Given the description of an element on the screen output the (x, y) to click on. 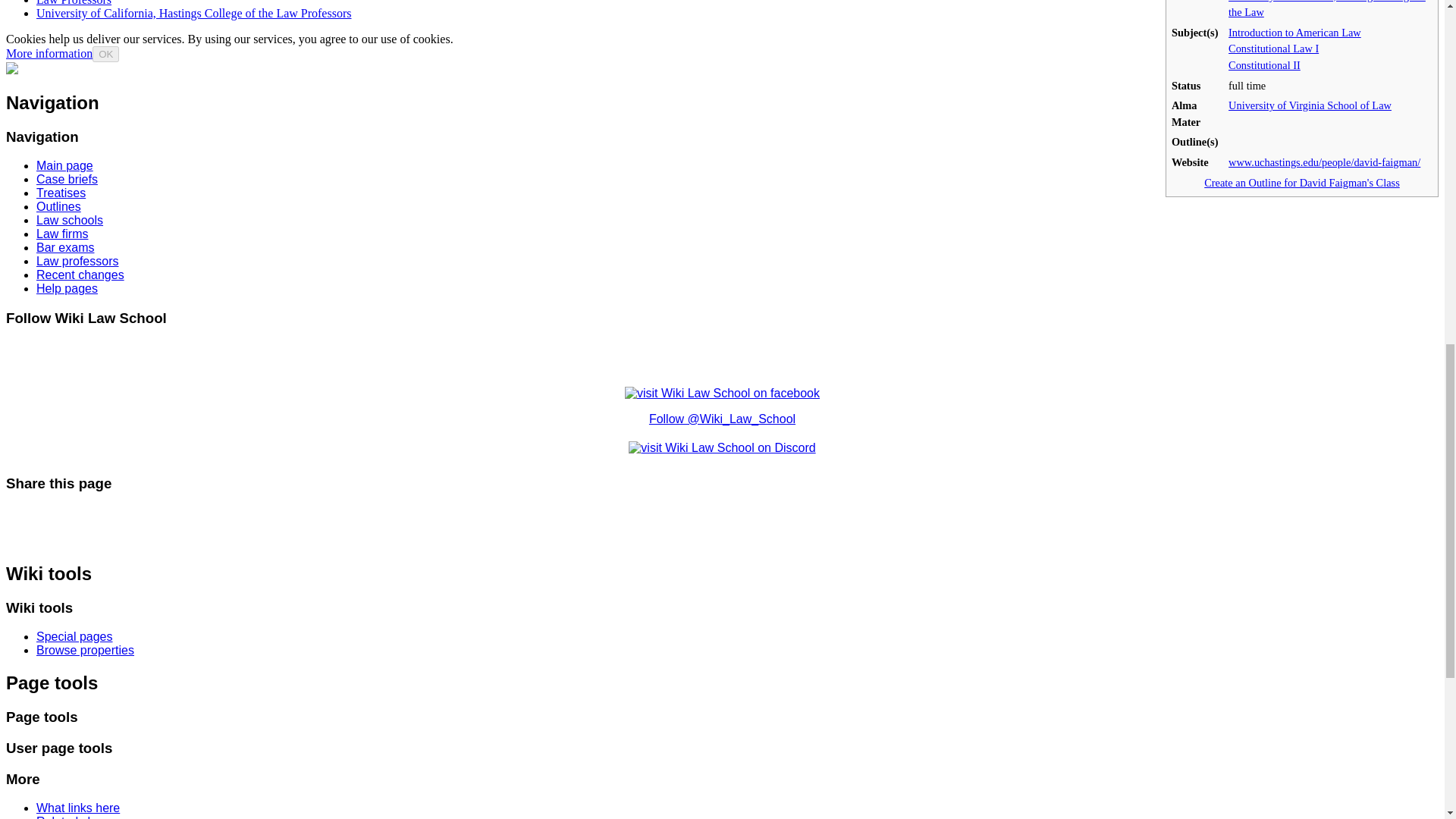
University of California, Hastings College of the Law (1326, 9)
University of Virginia School of Law (1309, 105)
Bar exams (65, 246)
Law firms (61, 233)
University of California, Hastings College of the Law (1326, 9)
Law Professors (74, 2)
Treatises (60, 192)
Create an Outline for David Faigman's Class (1301, 182)
Main page (64, 164)
